Given the description of an element on the screen output the (x, y) to click on. 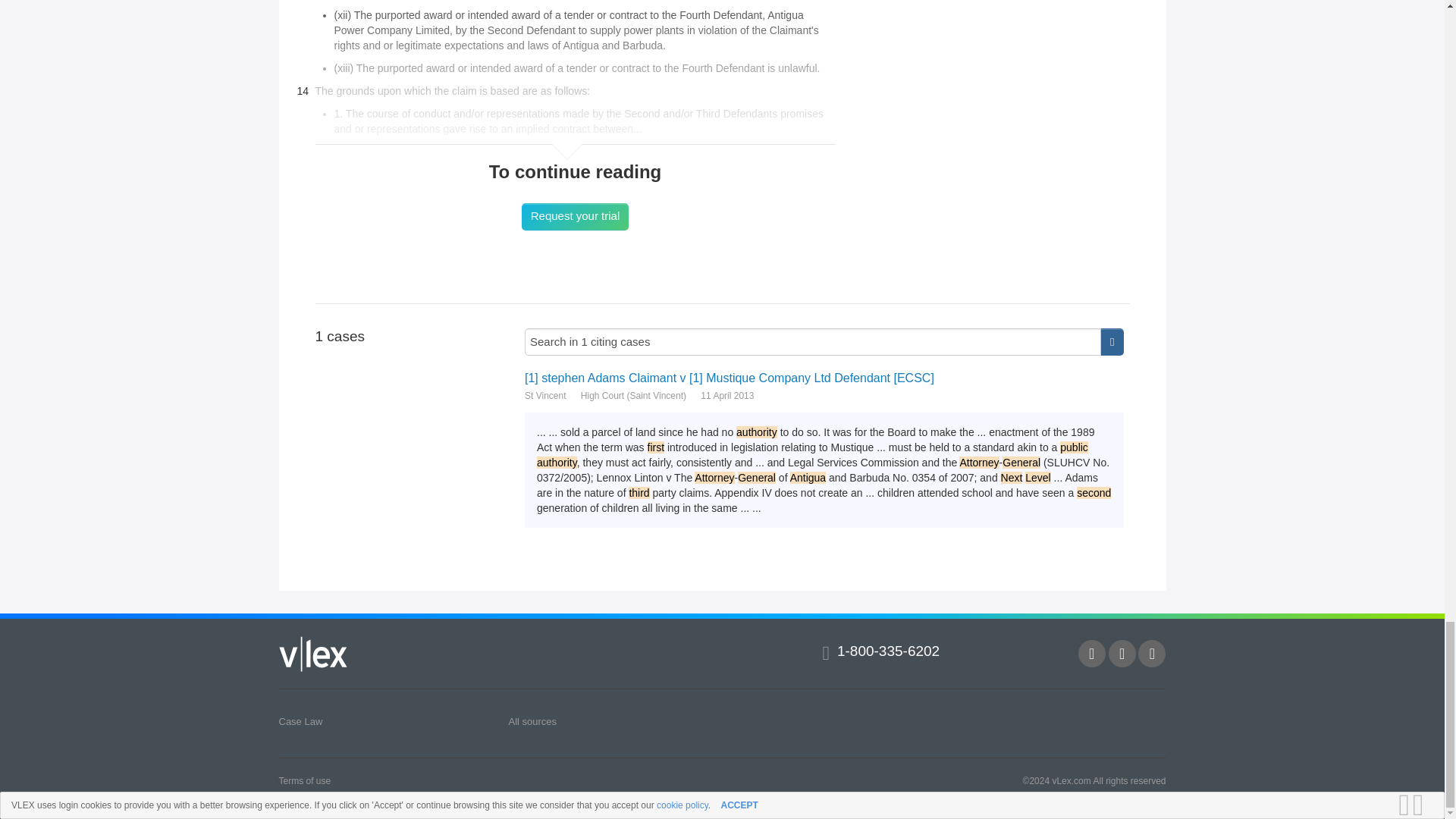
Terms of use (305, 780)
All sources (532, 721)
Case Law (301, 721)
Terms of use (305, 780)
vLex (313, 653)
All sources (532, 721)
St Vincent (545, 395)
Case Law (301, 721)
11 April 2013 (727, 395)
